Given the description of an element on the screen output the (x, y) to click on. 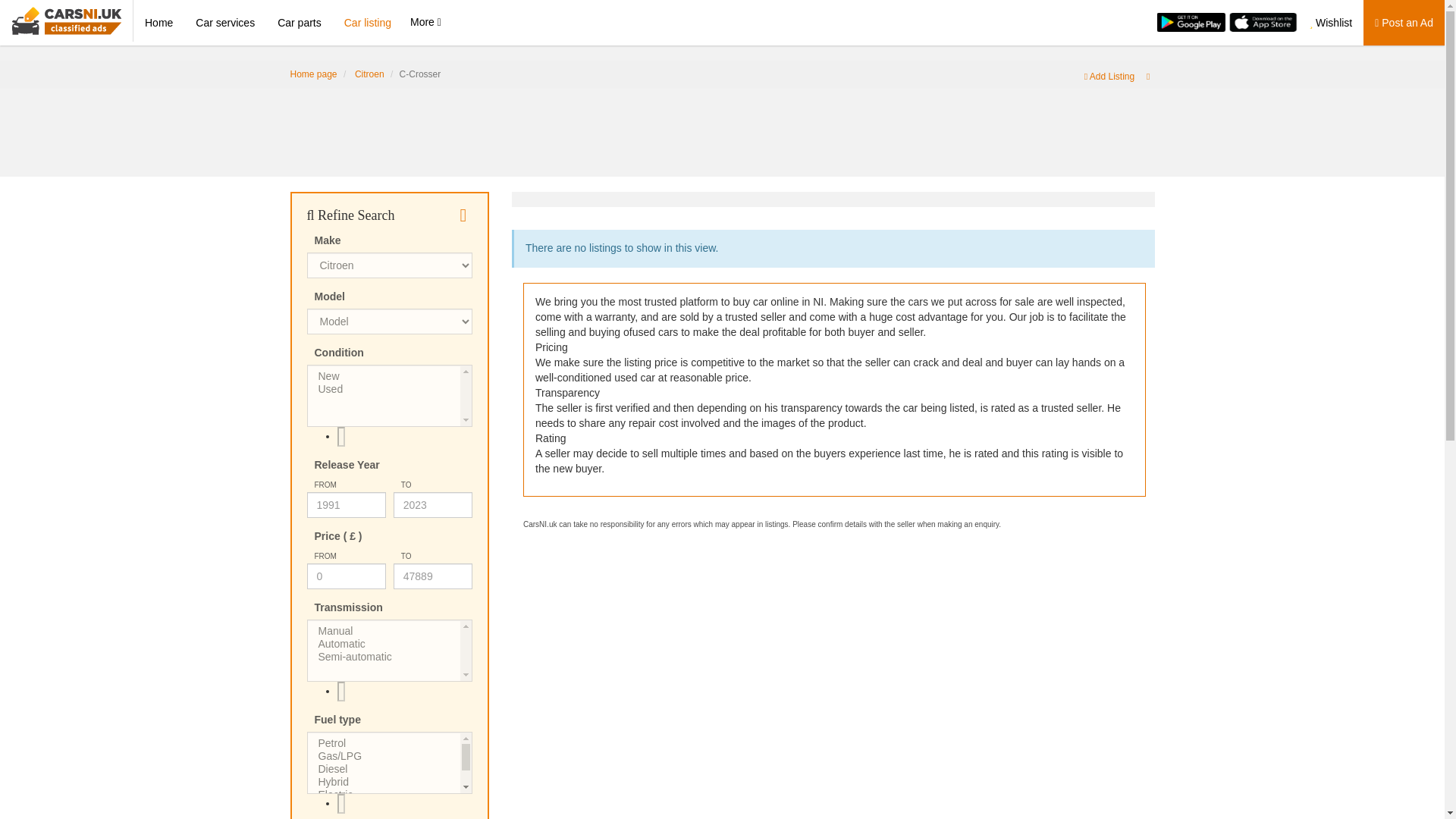
Home (158, 22)
Home page (312, 73)
Car parts (299, 22)
Car services (225, 22)
Add Listing (1109, 76)
Wishlist (1329, 22)
Car listing (368, 22)
More (425, 21)
Advertisement (721, 122)
Citroen (369, 73)
